Given the description of an element on the screen output the (x, y) to click on. 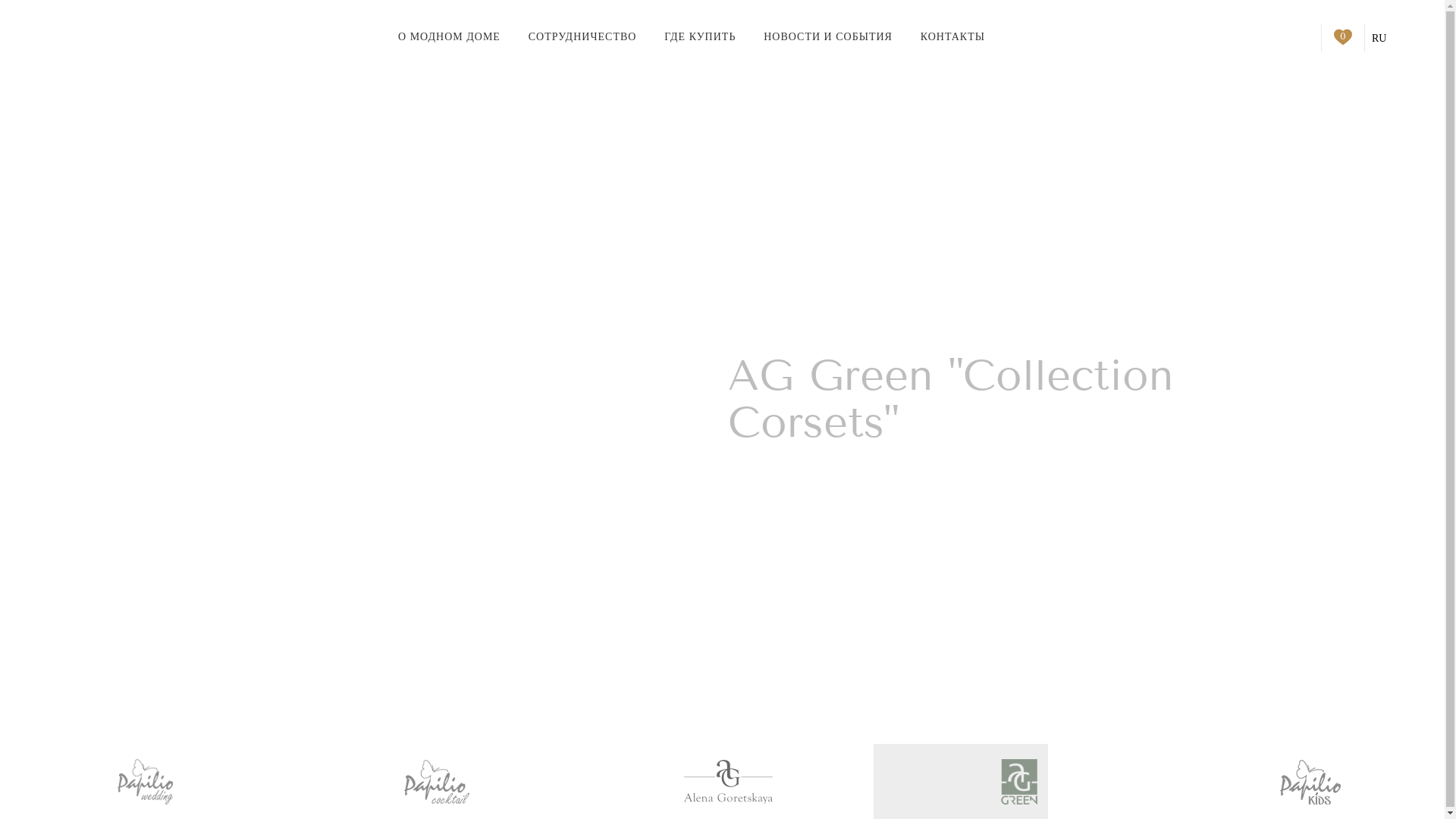
0 Element type: text (1342, 36)
